Given the description of an element on the screen output the (x, y) to click on. 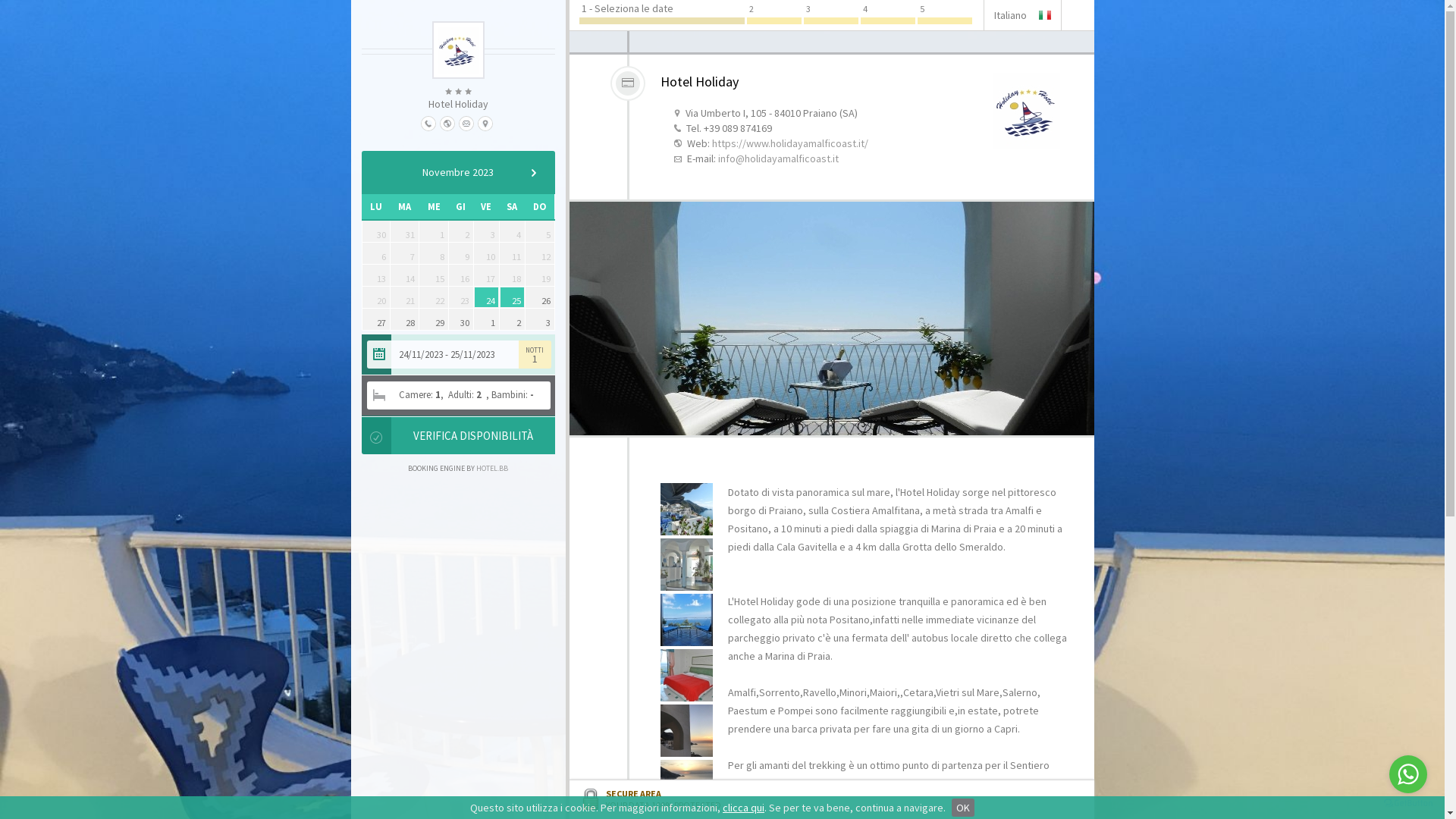
30 Element type: text (460, 319)
24 Element type: text (486, 297)
28 Element type: text (404, 319)
OK Element type: text (962, 807)
3 Element type: text (539, 319)
<Prec Element type: text (382, 172)
25 Element type: text (512, 297)
https://www.holidayamalficoast.it/ Element type: text (789, 143)
26 Element type: text (539, 297)
1 Element type: text (486, 319)
29 Element type: text (433, 319)
2 Element type: text (512, 319)
info@holidayamalficoast.it Element type: text (777, 158)
clicca qui Element type: text (743, 807)
HOTEL.BB Element type: text (492, 468)
27 Element type: text (375, 319)
Succ> Element type: text (532, 172)
